Given the description of an element on the screen output the (x, y) to click on. 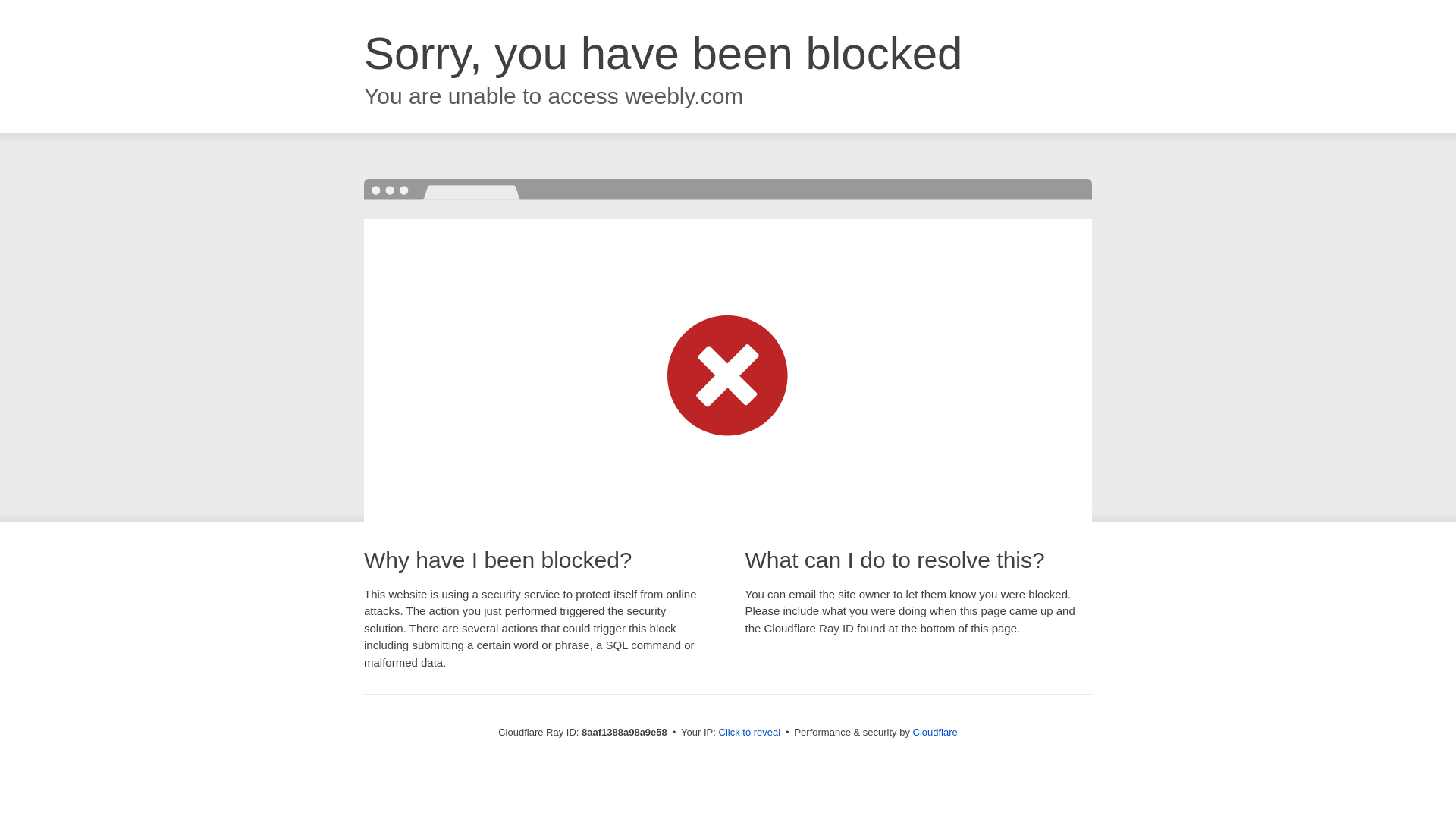
Cloudflare (935, 731)
Click to reveal (749, 732)
